Given the description of an element on the screen output the (x, y) to click on. 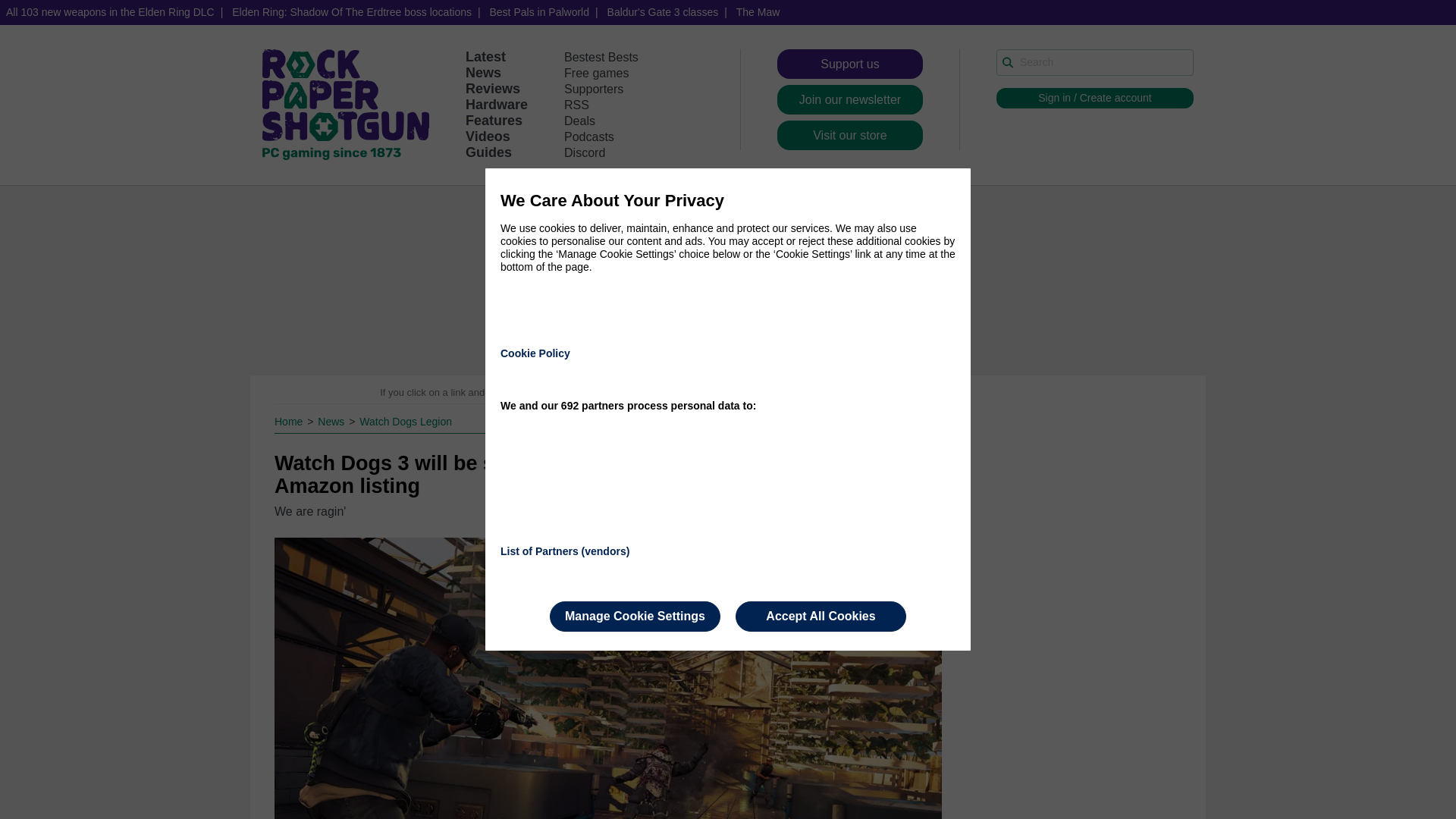
Deals (579, 120)
Baldur's Gate 3 classes (663, 12)
Podcasts (589, 136)
Features (493, 120)
Support us (850, 63)
Baldur's Gate 3 classes (663, 12)
The Maw (758, 12)
Podcasts (589, 136)
Best Pals in Palworld (539, 12)
Reviews (492, 88)
Guides (488, 151)
Supporters (593, 88)
Latest (485, 56)
Join our newsletter (850, 99)
News (482, 72)
